Given the description of an element on the screen output the (x, y) to click on. 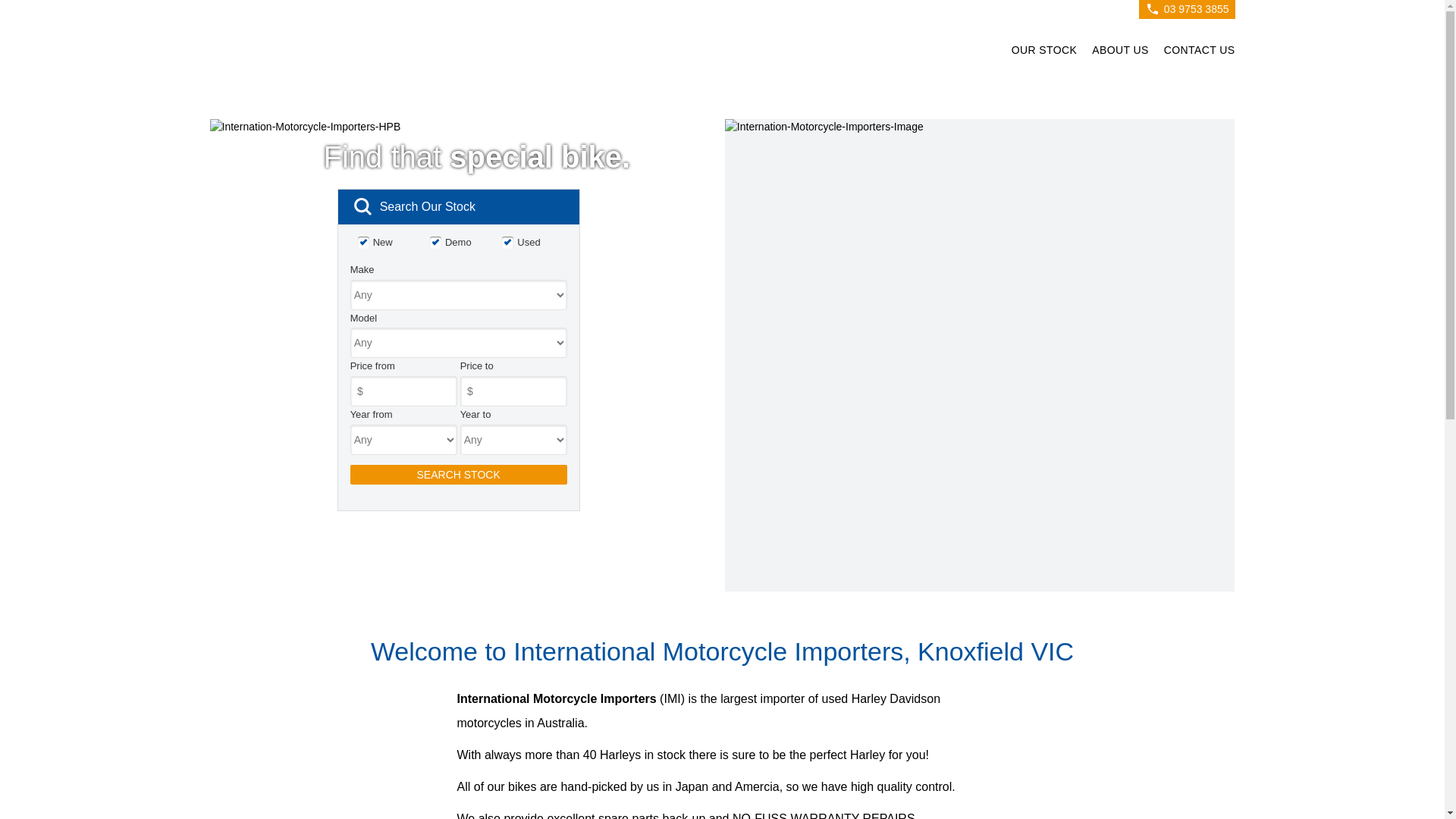
ABOUT US Element type: text (1120, 52)
Search Our Stock Element type: text (458, 206)
03 9753 3855 Element type: text (1196, 9)
Search stock Element type: text (458, 474)
OUR STOCK Element type: text (1044, 52)
CONTACT US Element type: text (1195, 52)
